Given the description of an element on the screen output the (x, y) to click on. 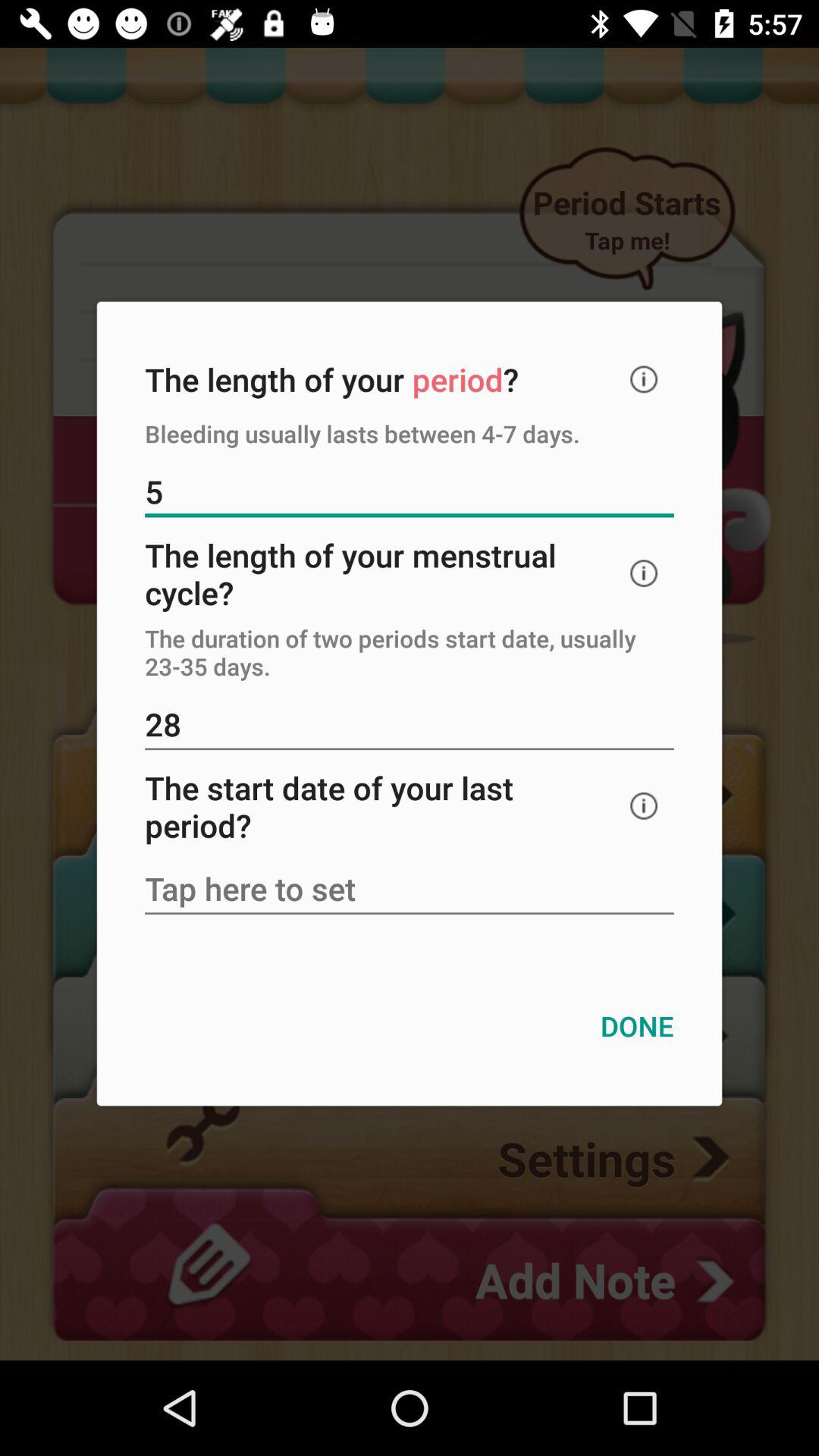
open the icon above bleeding usually lasts item (643, 379)
